Given the description of an element on the screen output the (x, y) to click on. 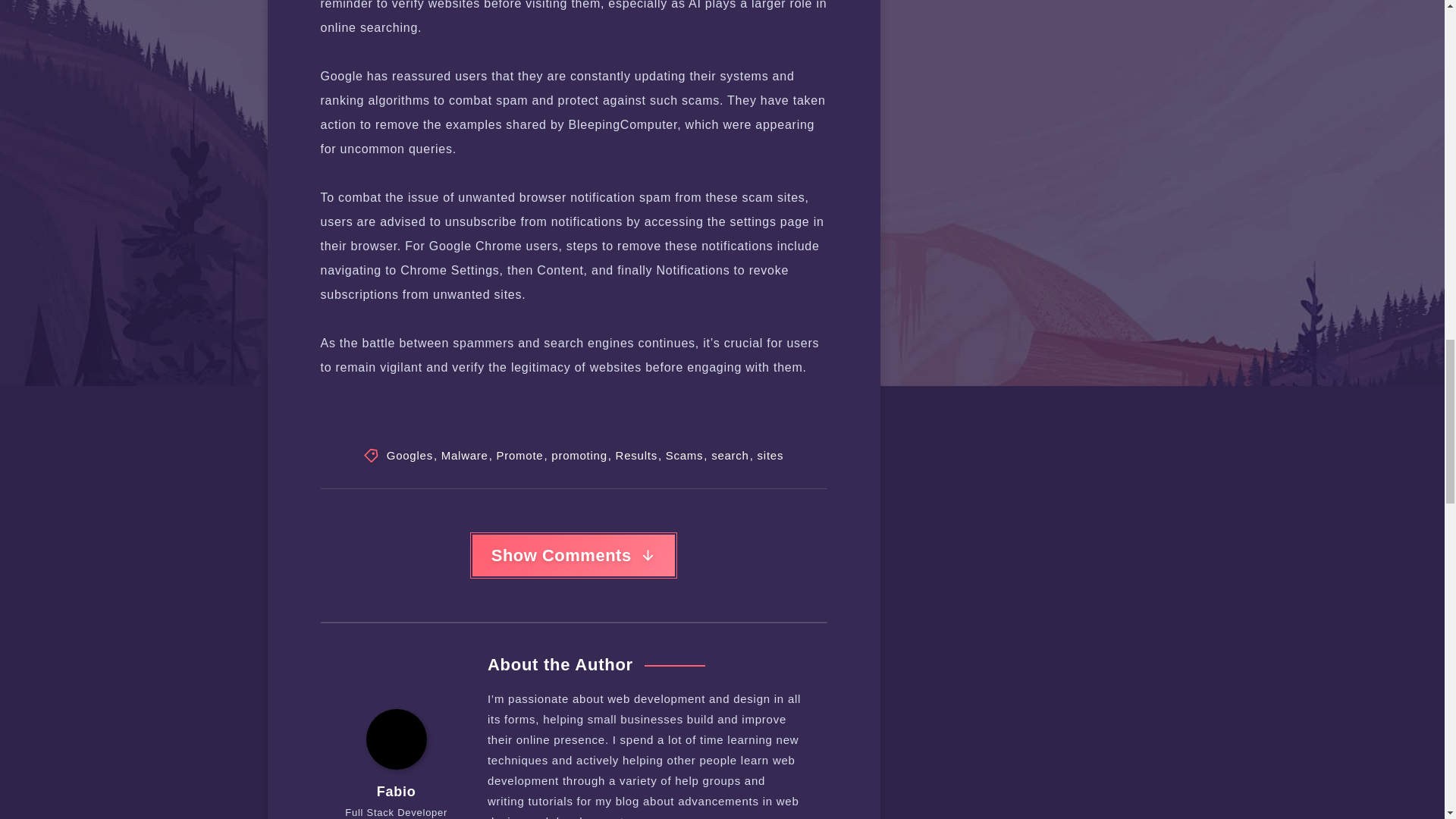
sites (770, 455)
Show Comments (573, 555)
promoting (579, 455)
Malware (464, 455)
Promote (519, 455)
Googles (409, 455)
Fabio (396, 791)
search (730, 455)
Results (636, 455)
Scams (684, 455)
